Given the description of an element on the screen output the (x, y) to click on. 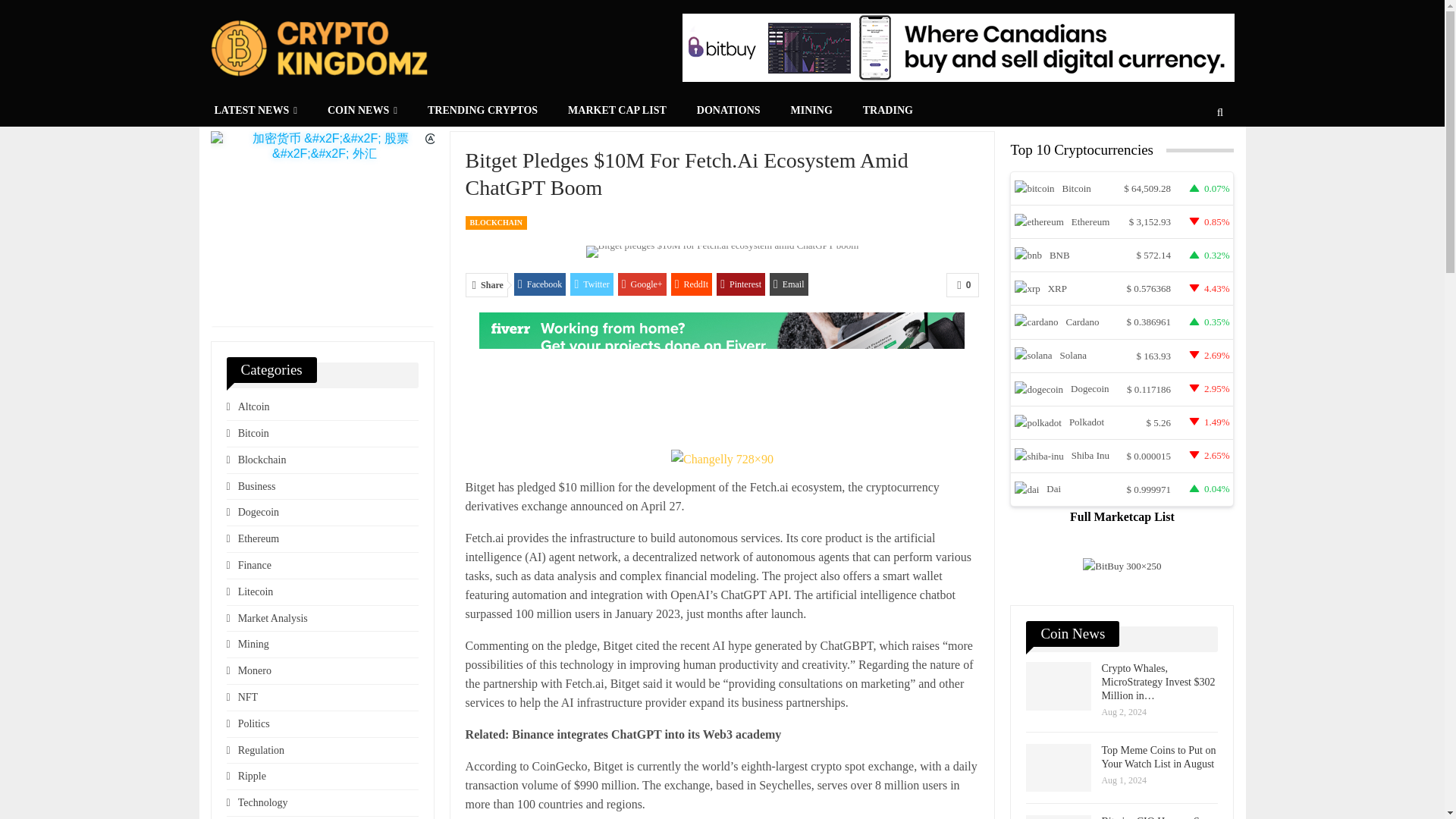
LATEST NEWS (254, 110)
COIN NEWS (362, 110)
